Given the description of an element on the screen output the (x, y) to click on. 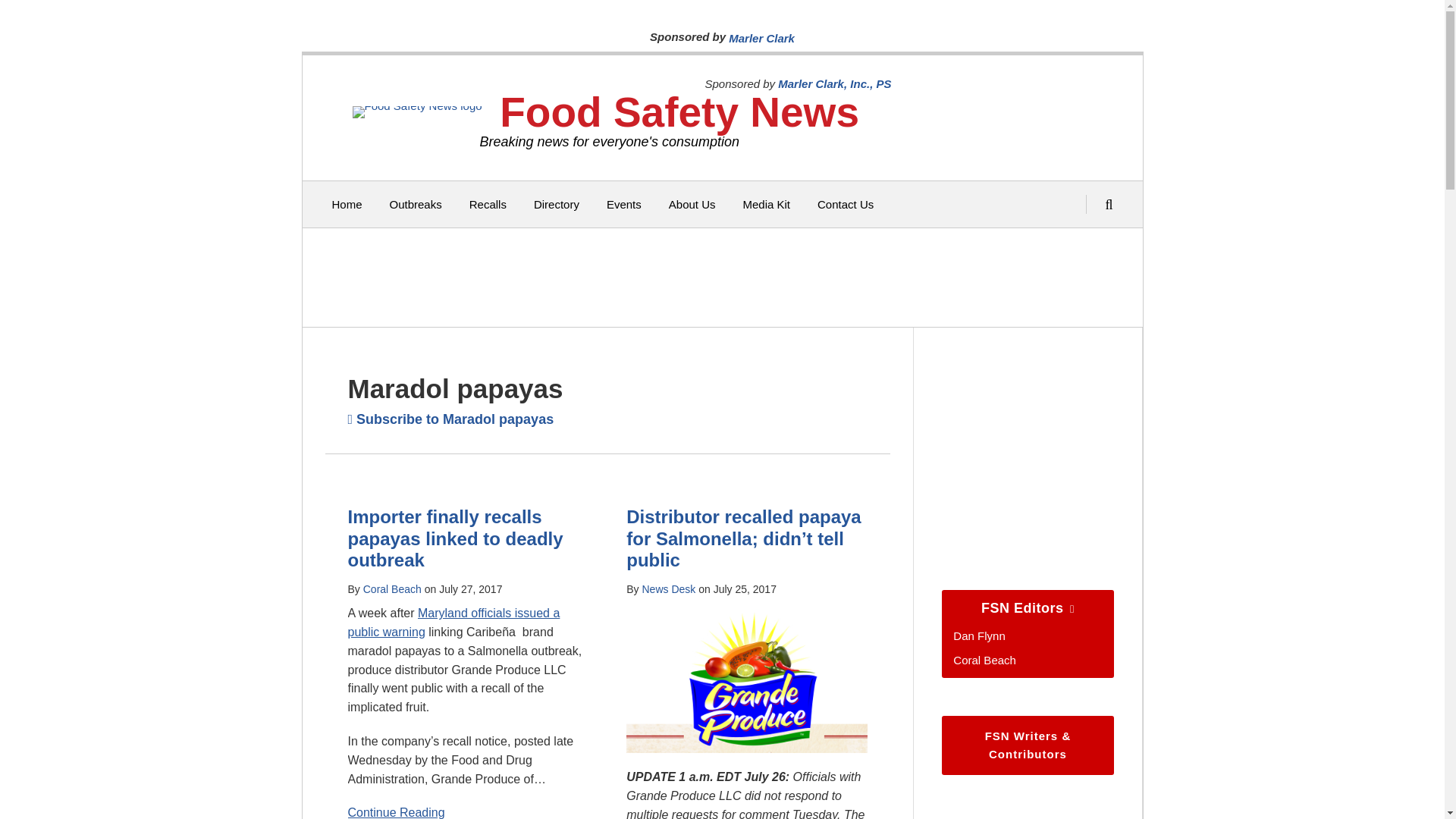
Contact Us (844, 204)
Importer finally recalls papayas linked to deadly outbreak (454, 538)
Events (624, 204)
Maryland officials issued a public warning (453, 622)
News Desk (668, 589)
Outbreaks (416, 204)
Subscribe to Maradol papayas (450, 418)
Dan Flynn (978, 635)
Directory (556, 204)
Marler Clark (761, 38)
Media Kit (766, 204)
Home (346, 204)
Food Safety News (679, 111)
About Us (692, 204)
